Given the description of an element on the screen output the (x, y) to click on. 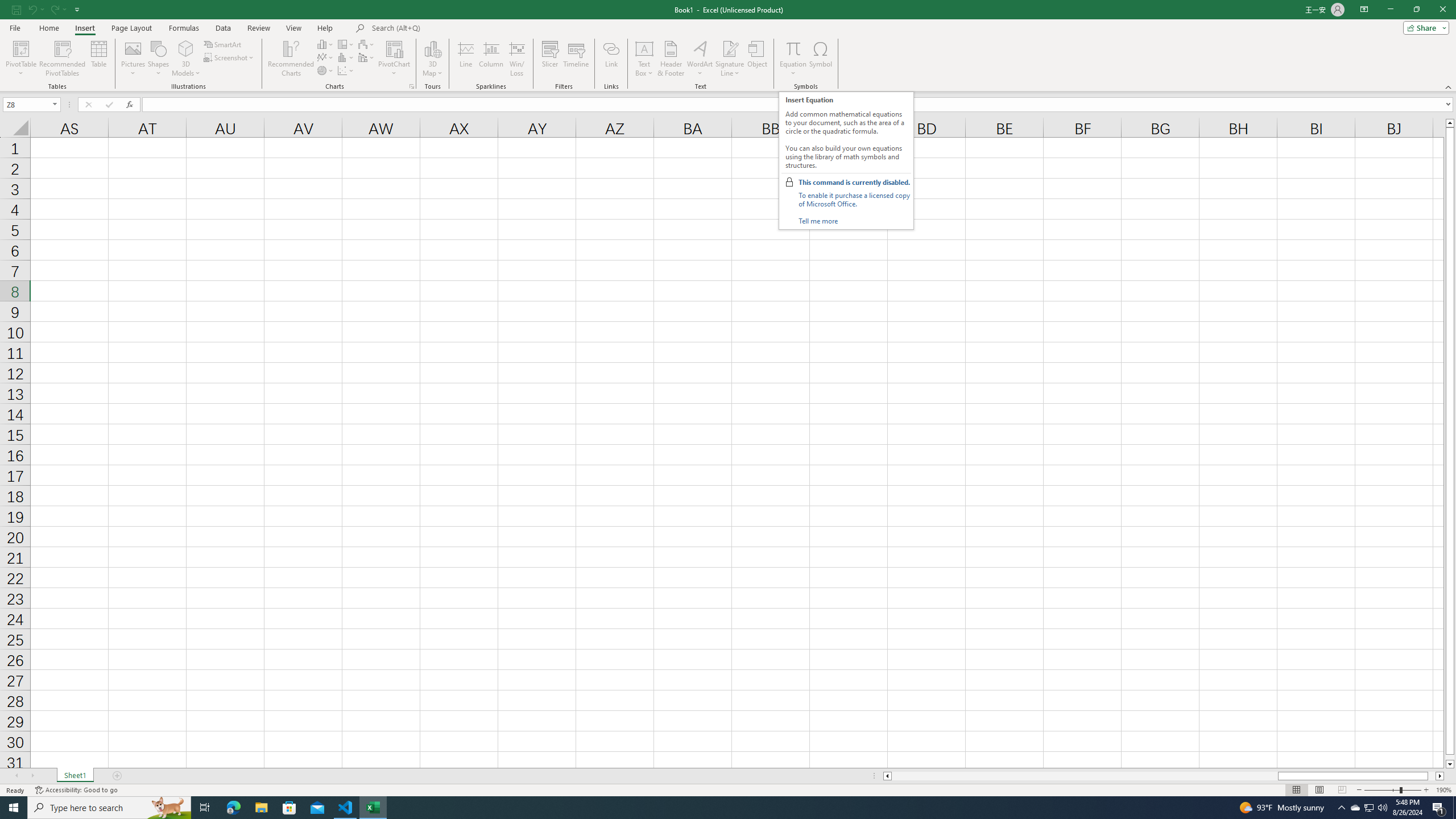
Header & Footer... (670, 58)
SmartArt... (223, 44)
Insert Pie or Doughnut Chart (325, 69)
